Given the description of an element on the screen output the (x, y) to click on. 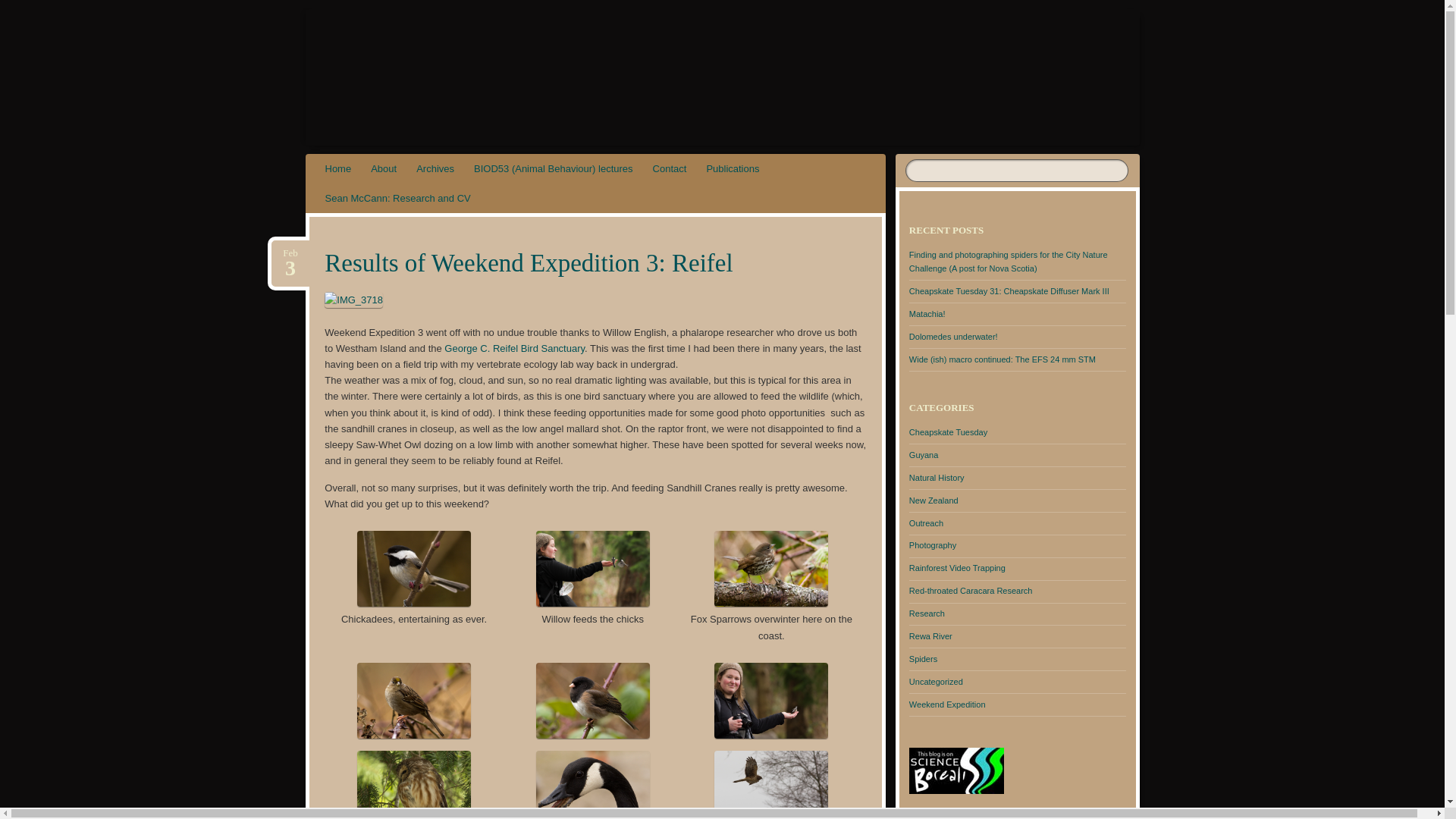
About (383, 168)
Contact (670, 168)
Publications (731, 168)
Ibycter (403, 60)
Sean McCann: Research and CV (397, 197)
February 3, 2013 (289, 253)
Archives (289, 253)
IBYCTER (435, 168)
Home (403, 60)
